Given the description of an element on the screen output the (x, y) to click on. 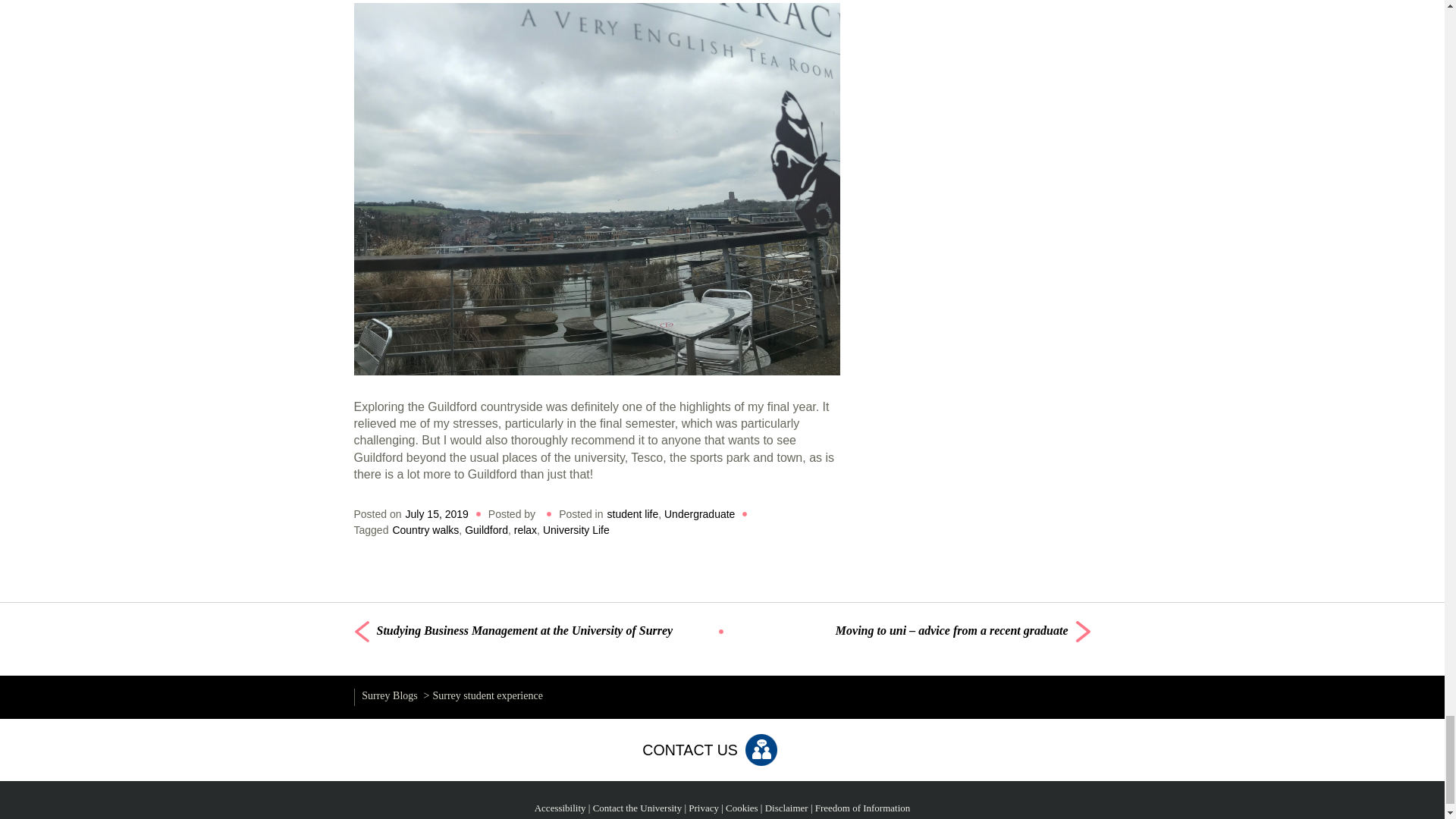
July 15, 2019 (437, 513)
Undergraduate (699, 513)
student life (632, 513)
relax (525, 530)
Guildford (486, 530)
Country walks (424, 530)
